Given the description of an element on the screen output the (x, y) to click on. 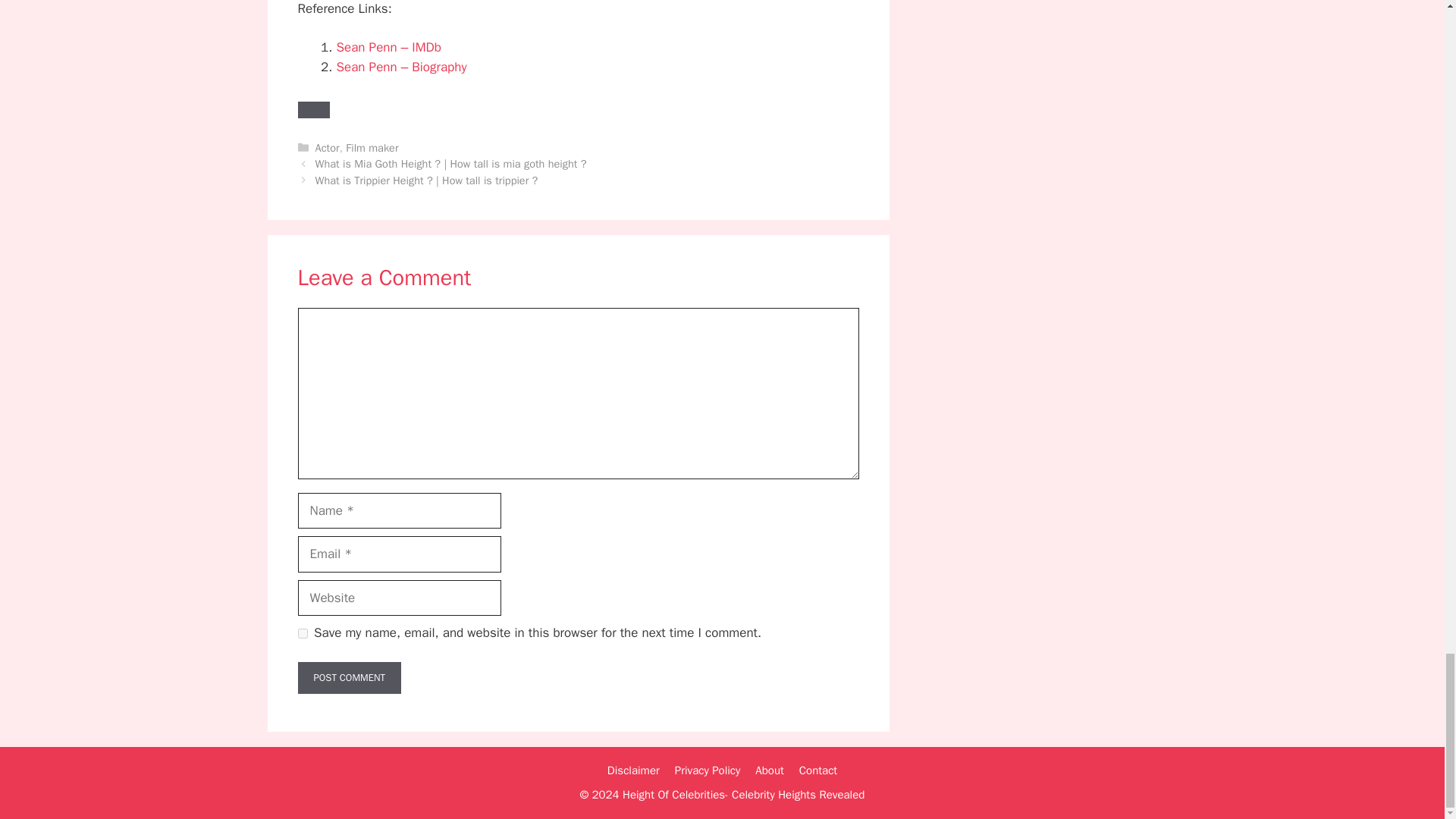
yes (302, 633)
Post Comment (349, 677)
